Given the description of an element on the screen output the (x, y) to click on. 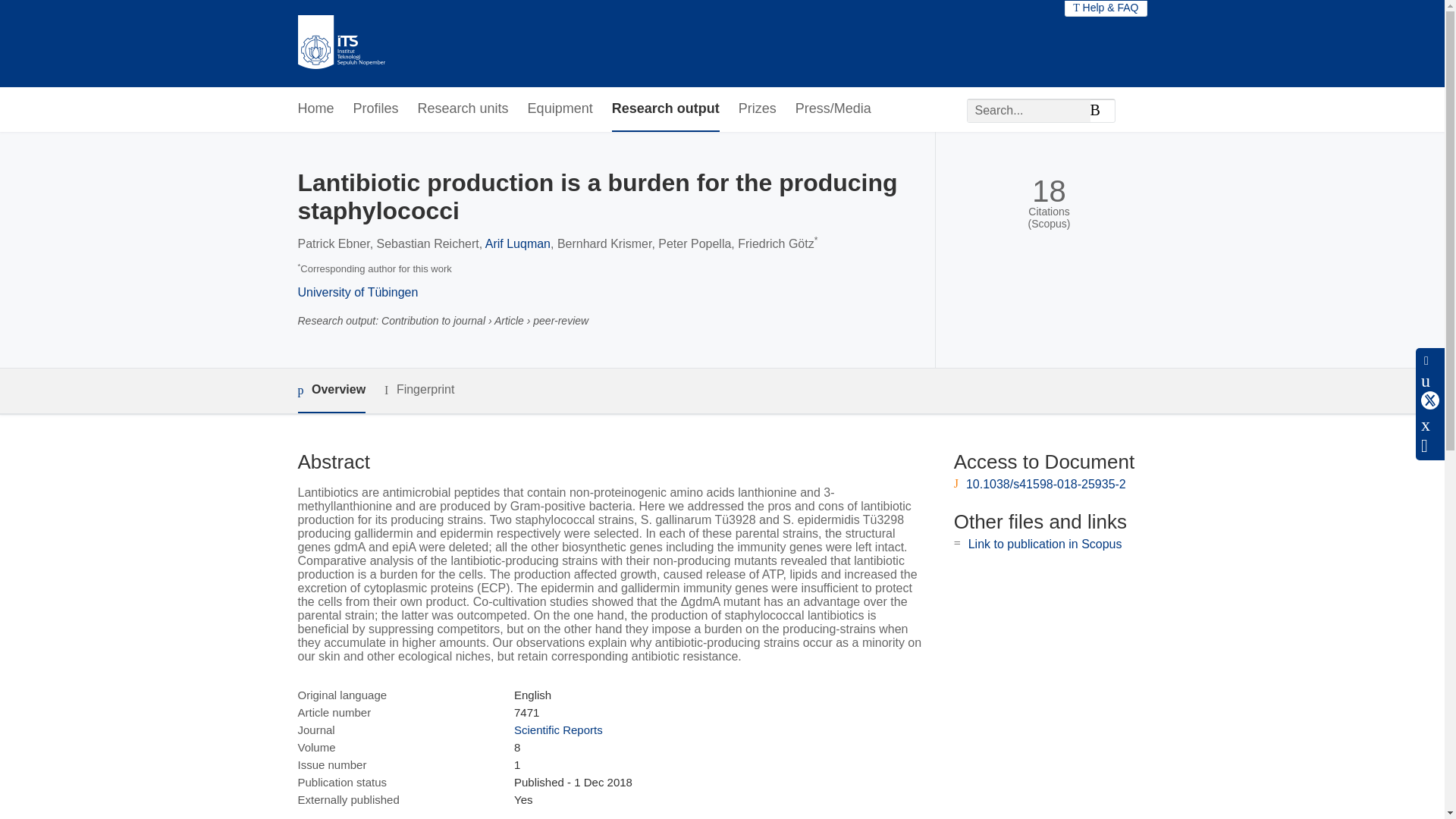
Scientific Reports (557, 729)
Profiles (375, 108)
Research units (462, 108)
Fingerprint (419, 389)
Arif Luqman (517, 243)
Overview (331, 390)
Link to publication in Scopus (1045, 543)
Equipment (559, 108)
Research output (665, 108)
